Given the description of an element on the screen output the (x, y) to click on. 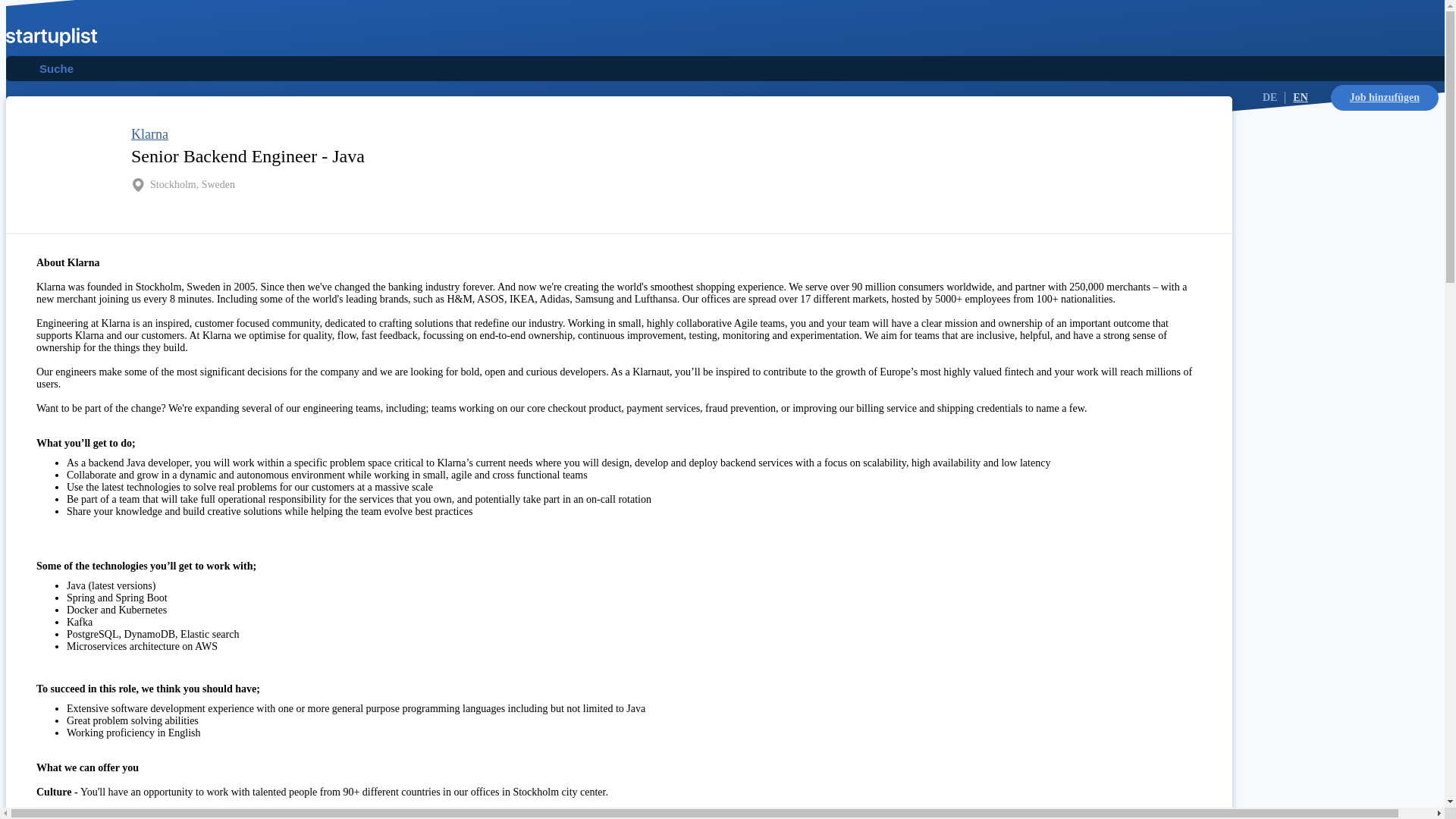
Logo (51, 38)
Logo (51, 36)
EN (1299, 97)
Klarna (149, 133)
